Given the description of an element on the screen output the (x, y) to click on. 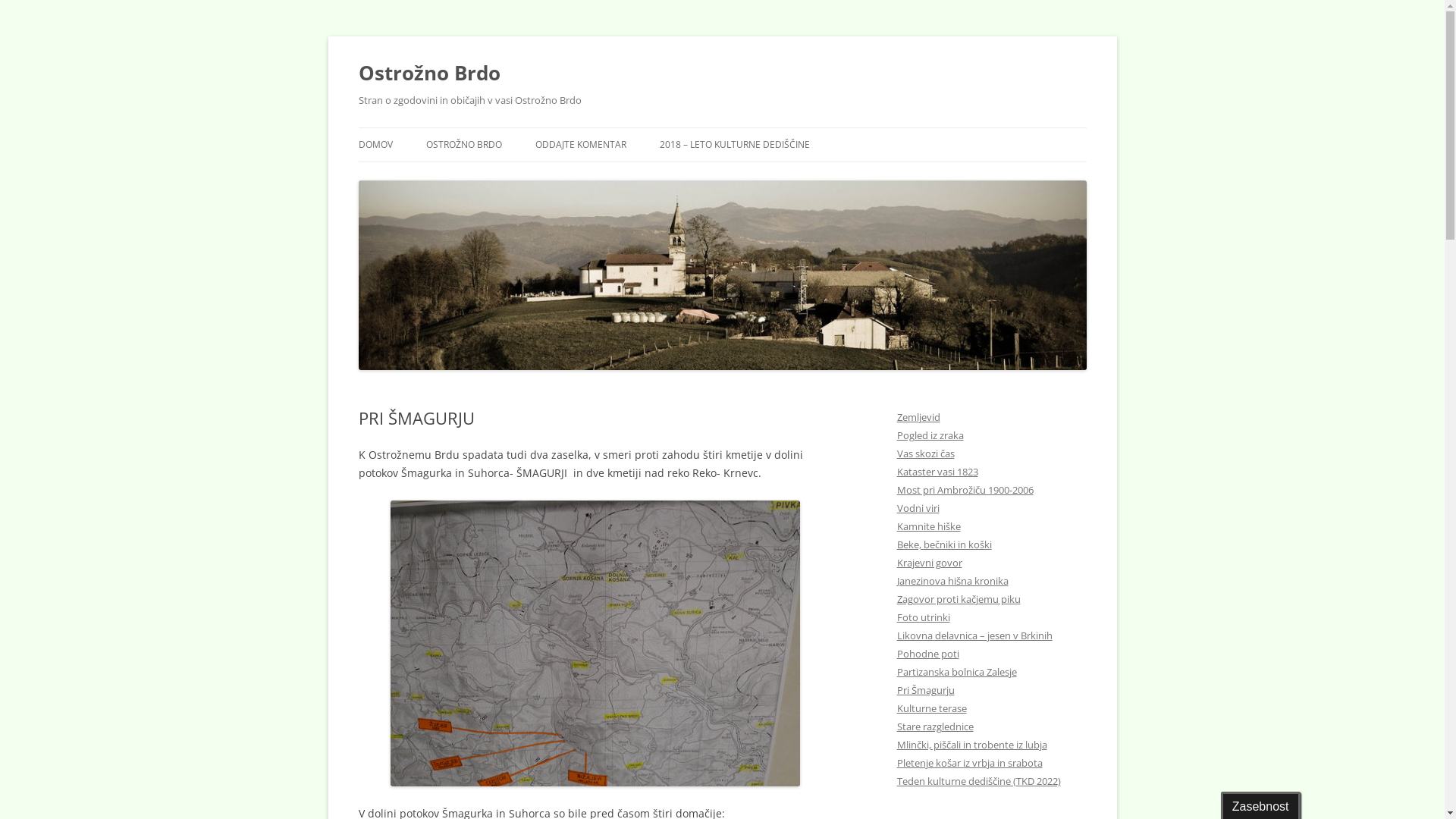
Pogled iz zraka Element type: text (929, 435)
ODDAJTE KOMENTAR Element type: text (580, 144)
Pohodne poti Element type: text (927, 653)
Krajevni govor Element type: text (928, 562)
ZEMLJEVID Element type: text (501, 176)
Vodni viri Element type: text (917, 507)
Stare razglednice Element type: text (934, 726)
Kulturne terase Element type: text (931, 708)
DOMOV Element type: text (374, 144)
Partizanska bolnica Zalesje Element type: text (956, 671)
Foto utrinki Element type: text (922, 617)
Zemljevid Element type: text (917, 416)
Kataster vasi 1823 Element type: text (936, 471)
